Given the description of an element on the screen output the (x, y) to click on. 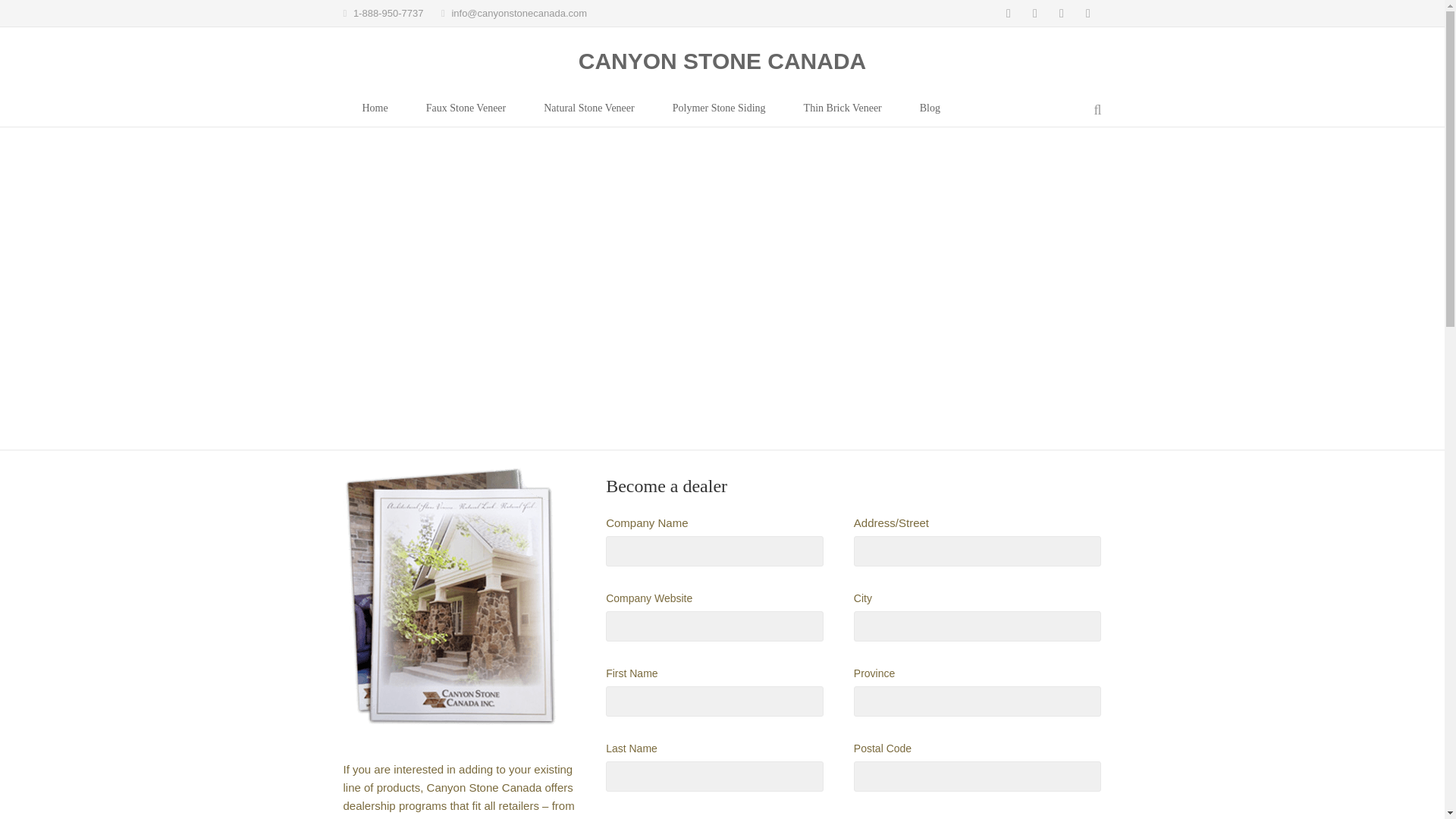
Faux Stone Veneer (466, 110)
Natural Stone Veneer (588, 110)
Thin Brick Veneer (842, 110)
CANYON STONE CANADA (721, 61)
Blog (930, 110)
Home (374, 110)
Polymer Stone Siding (718, 110)
